Given the description of an element on the screen output the (x, y) to click on. 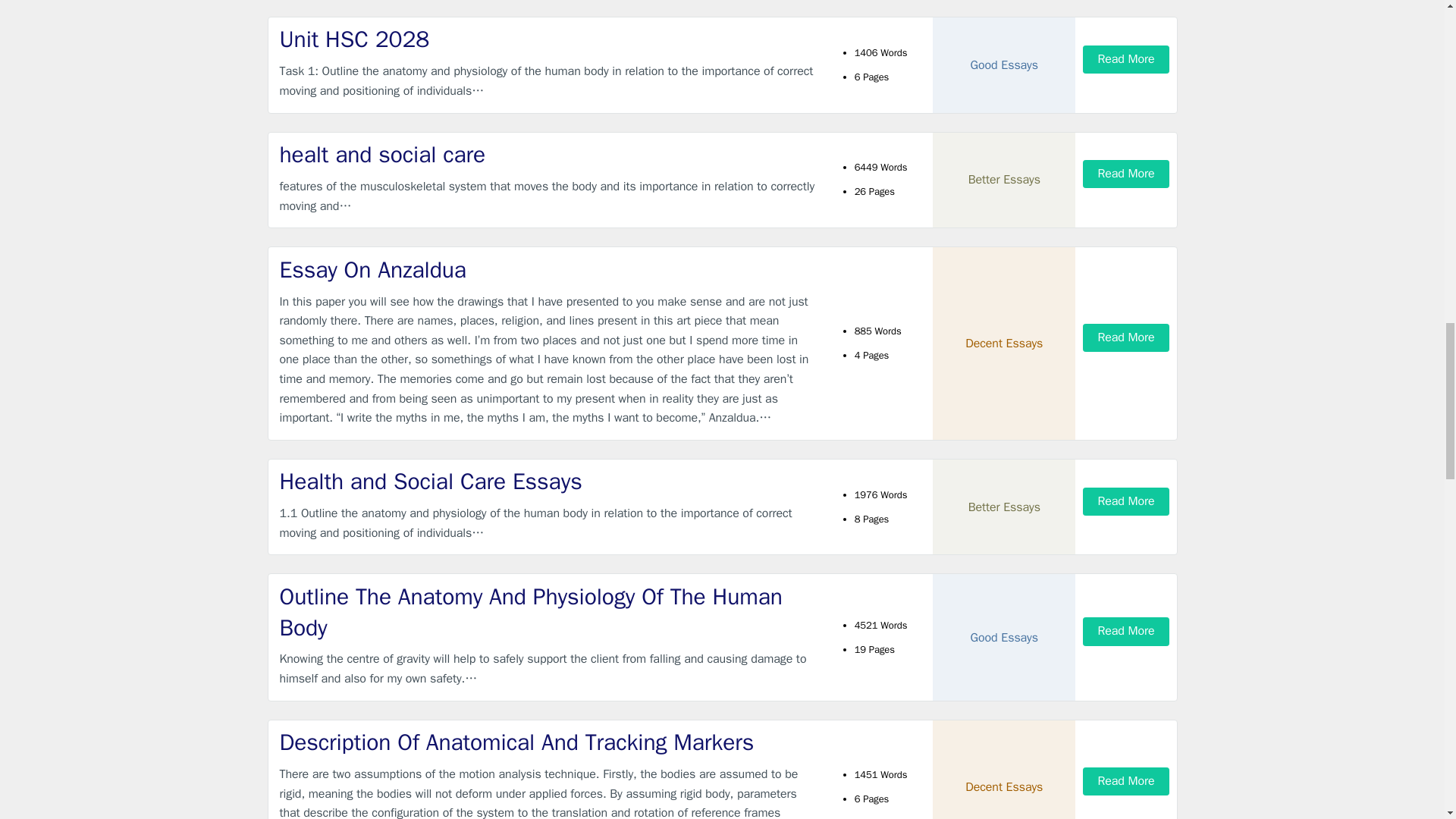
Essay On Anzaldua (548, 269)
Read More (1126, 59)
Read More (1126, 501)
Outline The Anatomy And Physiology Of The Human Body (548, 611)
Read More (1126, 337)
healt and social care (548, 154)
Health and Social Care Essays (548, 481)
Read More (1126, 173)
Unit HSC 2028 (548, 39)
